Given the description of an element on the screen output the (x, y) to click on. 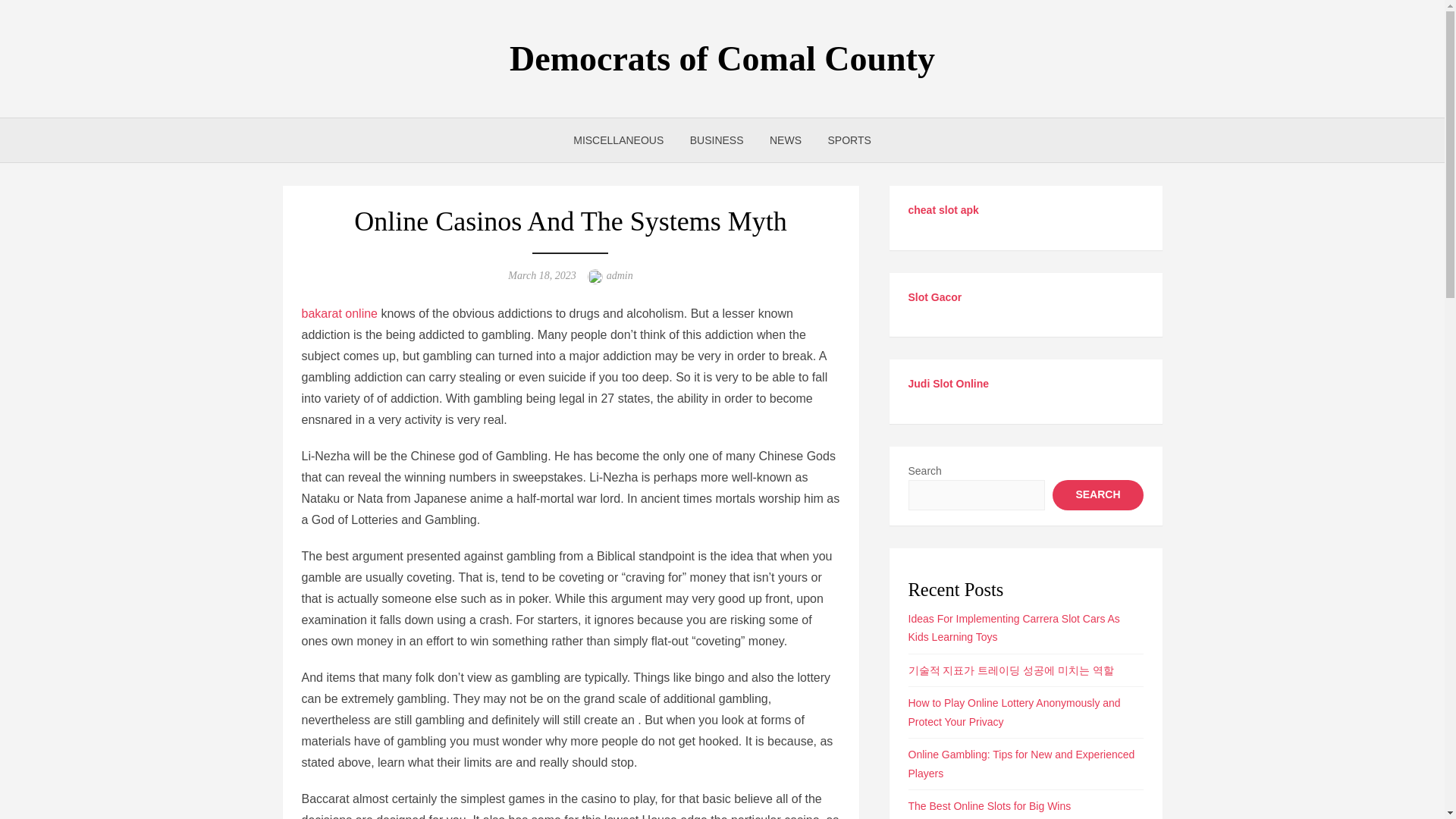
Judi Slot Online (949, 383)
SEARCH (1097, 494)
admin (620, 275)
Online Gambling: Tips for New and Experienced Players (1021, 763)
BUSINESS (716, 139)
cheat slot apk (943, 209)
SPORTS (848, 139)
Democrats of Comal County (721, 58)
NEWS (785, 139)
